Given the description of an element on the screen output the (x, y) to click on. 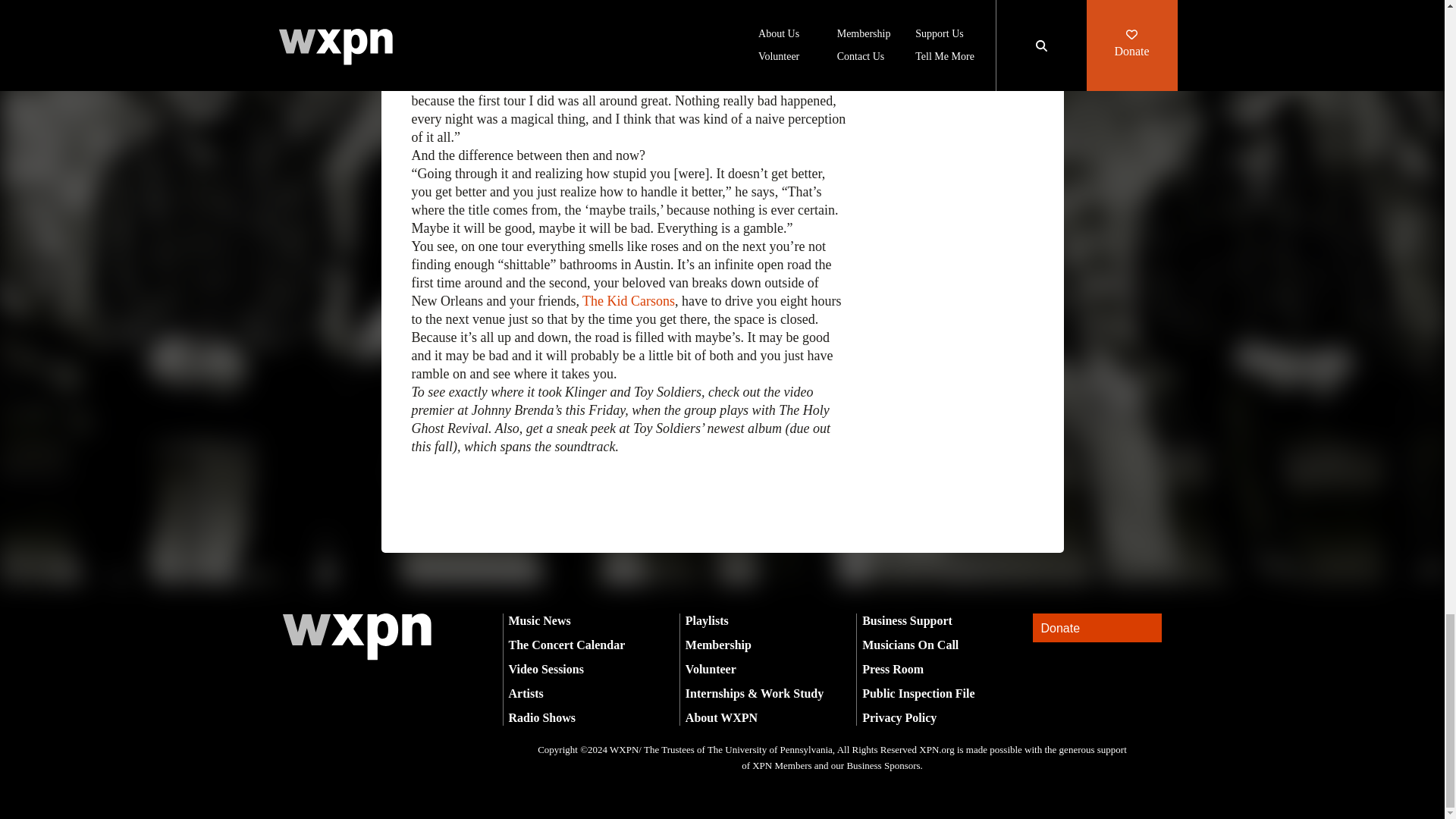
Radio Shows (541, 717)
Musicians On Call (909, 644)
Music News (539, 620)
Volunteer (710, 668)
Public Inspection File (917, 693)
About WXPN (721, 717)
Business Support (906, 620)
Donate (1096, 627)
Privacy Policy (898, 717)
Press Room (892, 668)
